Given the description of an element on the screen output the (x, y) to click on. 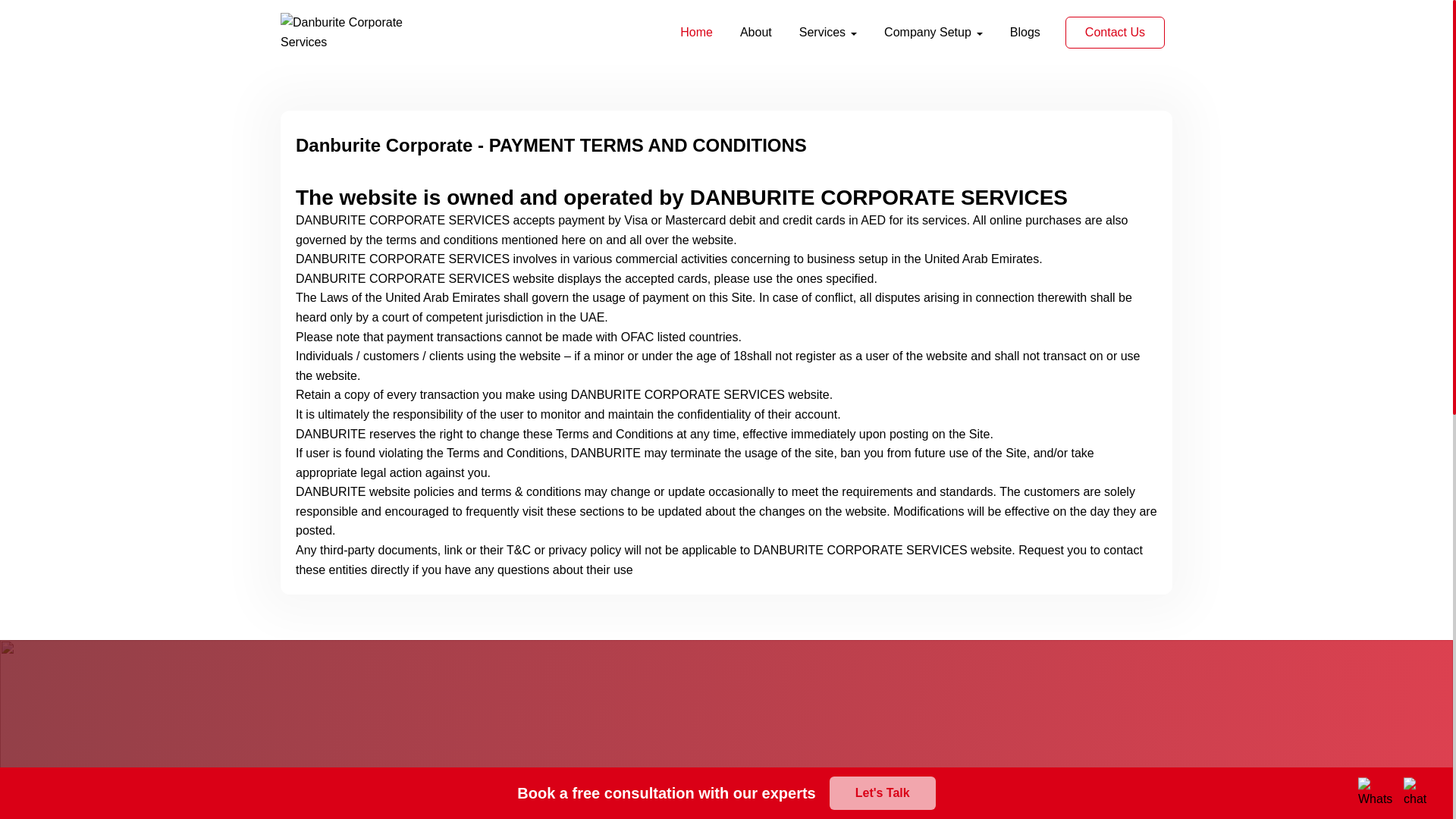
Blogs (1024, 31)
Services (827, 31)
About (756, 31)
About us (756, 31)
Company Setup (933, 31)
Services (827, 31)
Contact Us (1114, 32)
Home (696, 31)
Danburite Corporate Services (356, 32)
